Given the description of an element on the screen output the (x, y) to click on. 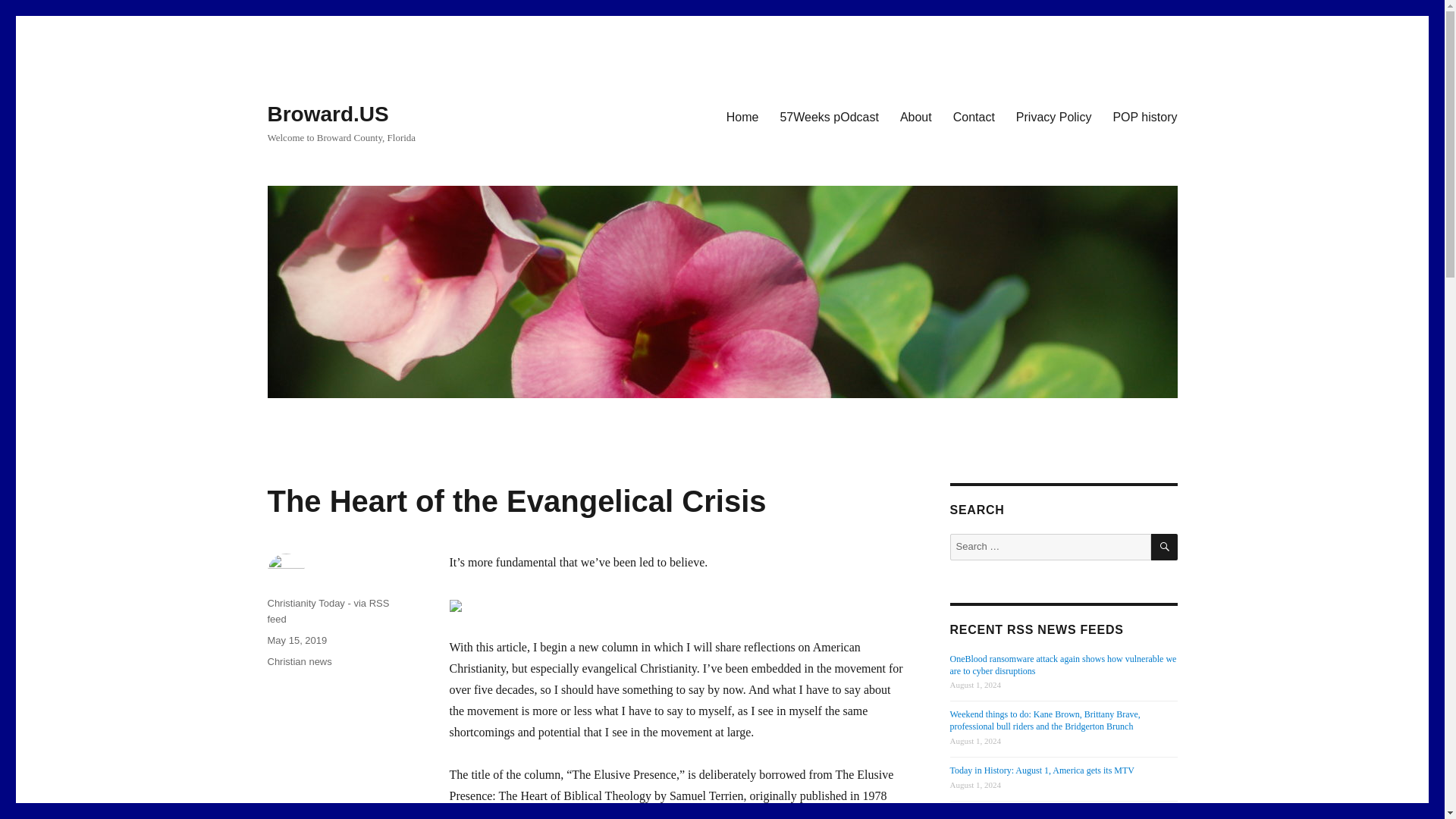
Home (743, 116)
57Weeks pOdcast (828, 116)
May 15, 2019 (296, 640)
SEARCH (1164, 546)
Christianity Today - via RSS feed (327, 610)
Broward.US (327, 114)
Today in History: August 1, America gets its MTV (1041, 769)
About (915, 116)
Christian news (298, 661)
POP history (1145, 116)
Permalink to Daily Horoscope for August 01, 2024 (1017, 814)
